Given the description of an element on the screen output the (x, y) to click on. 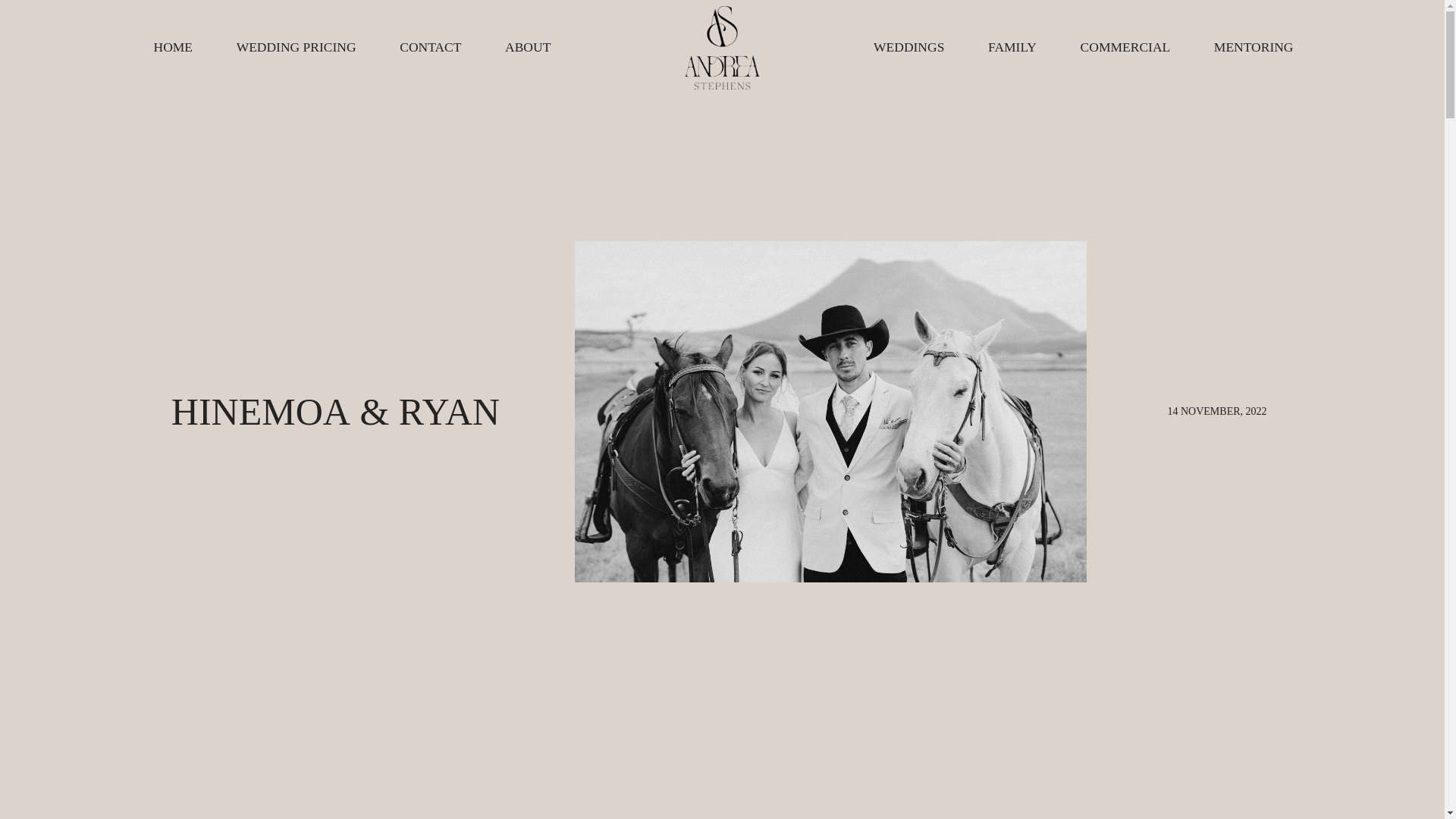
WEDDING PRICING (296, 47)
HOME (173, 47)
CONTACT (430, 47)
COMMERCIAL (1125, 47)
FAMILY (1012, 47)
ABOUT (527, 47)
MENTORING (1253, 47)
WEDDINGS (908, 47)
